Given the description of an element on the screen output the (x, y) to click on. 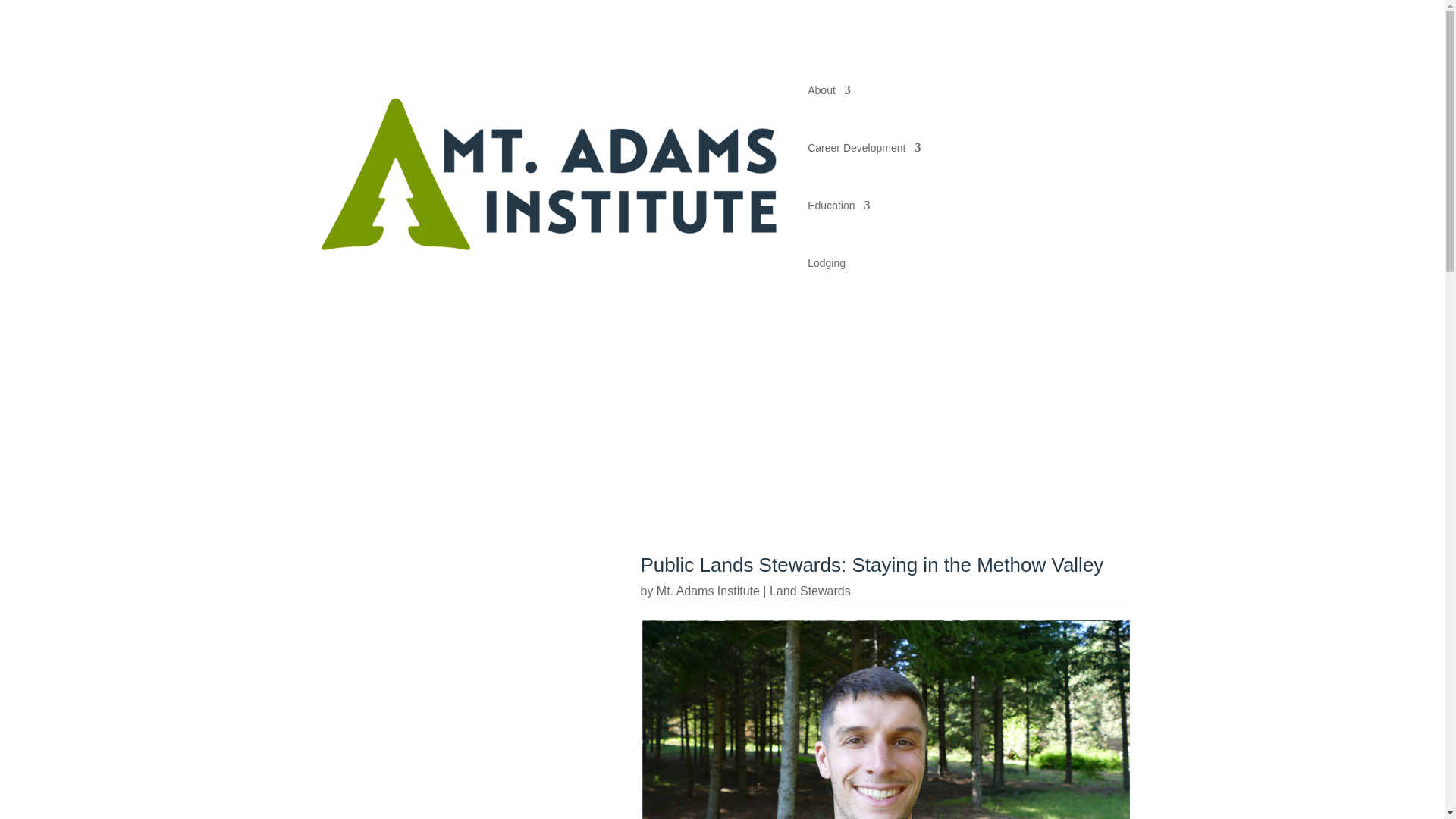
Education (838, 205)
Career Development (864, 147)
Posts by Mt. Adams Institute (708, 590)
